Given the description of an element on the screen output the (x, y) to click on. 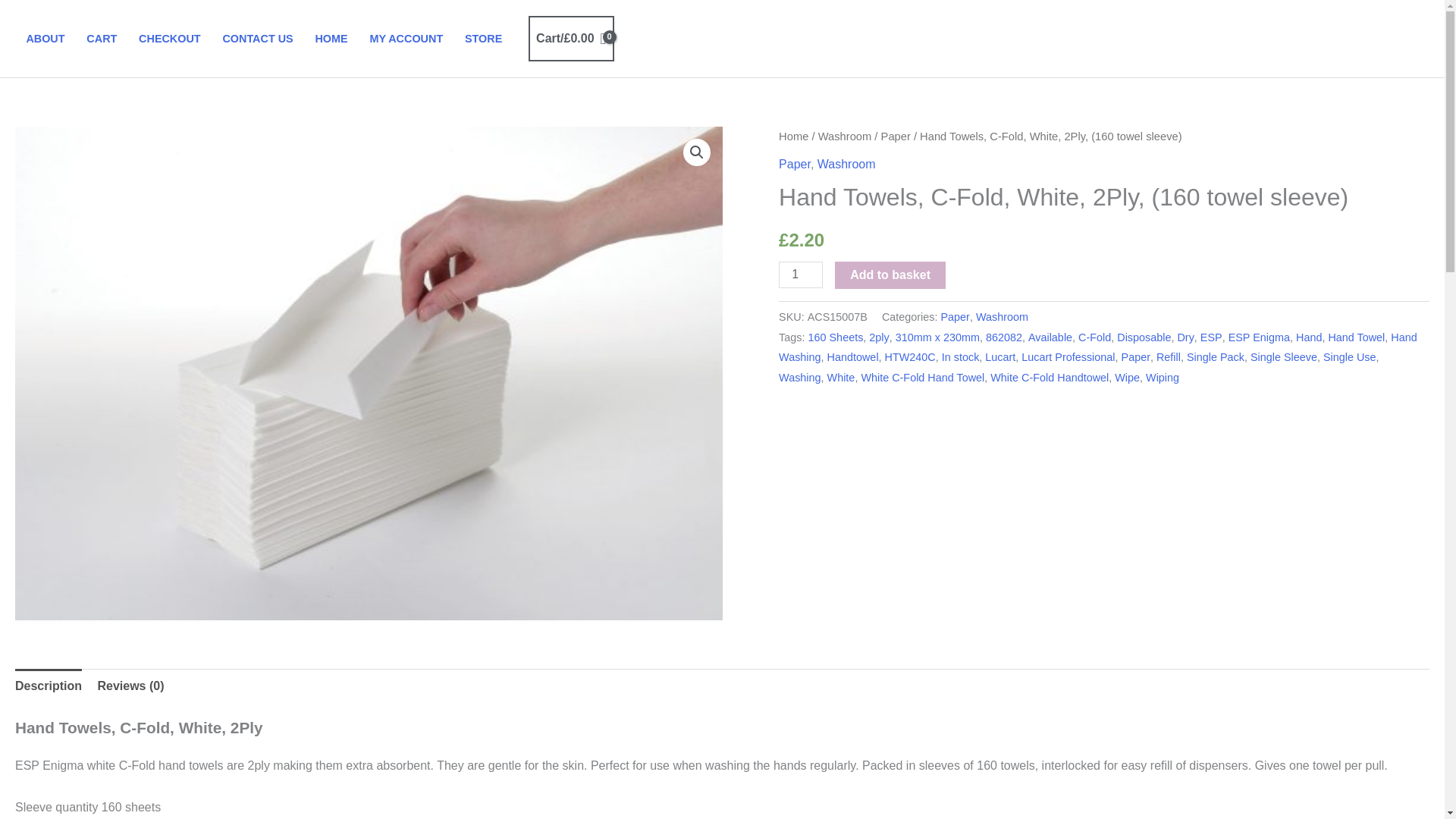
Washroom (845, 136)
Washroom (1001, 316)
PayPal (1103, 450)
2ply (878, 337)
CONTACT US (257, 38)
Available (1049, 337)
Washroom (846, 164)
Home (793, 136)
1 (800, 274)
160 Sheets (835, 337)
